Given the description of an element on the screen output the (x, y) to click on. 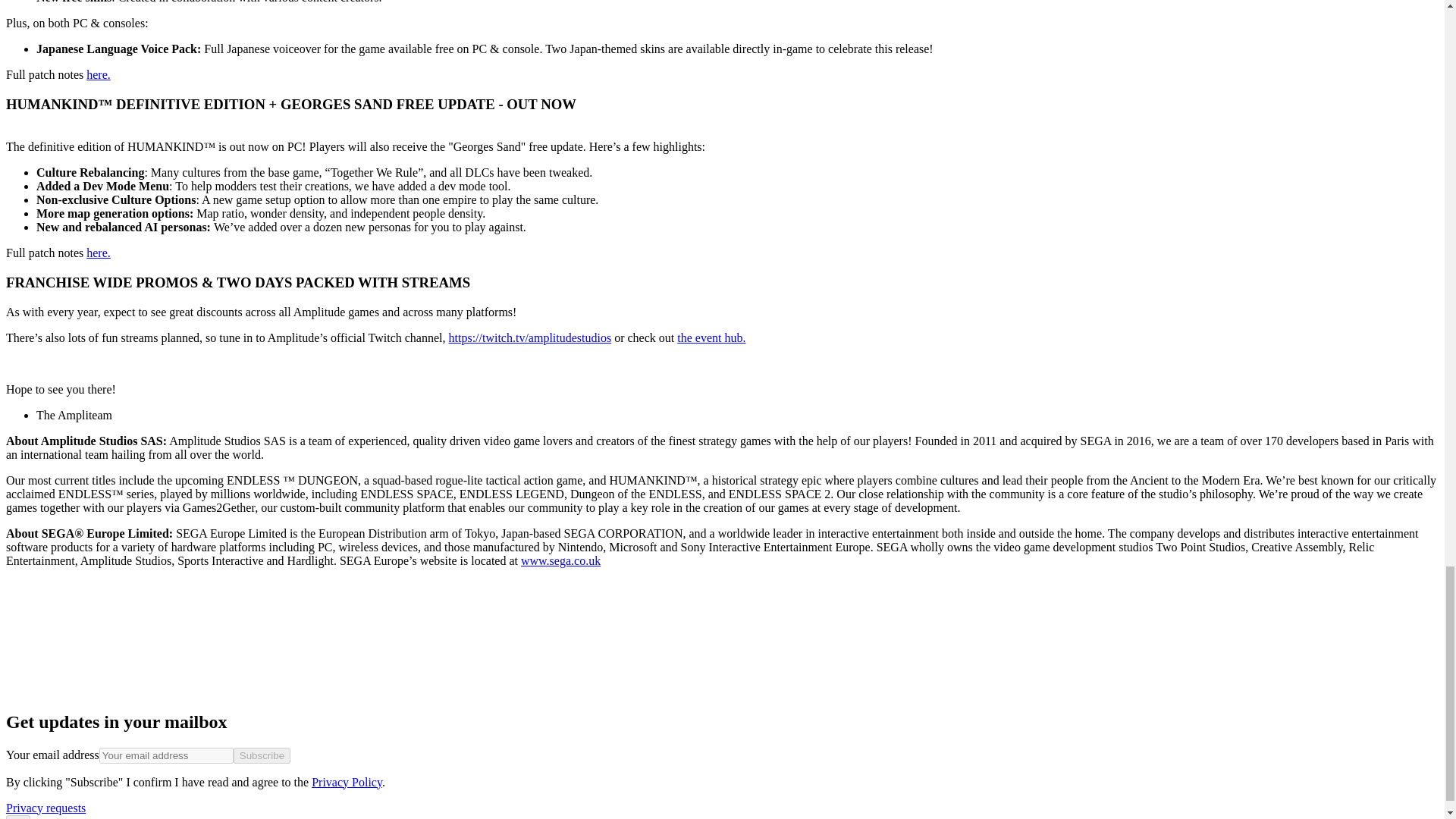
Subscribe (260, 755)
the event hub. (711, 337)
Privacy Policy (346, 781)
here. (97, 74)
www.sega.co.uk (560, 560)
here. (97, 252)
Privacy requests (45, 807)
